Given the description of an element on the screen output the (x, y) to click on. 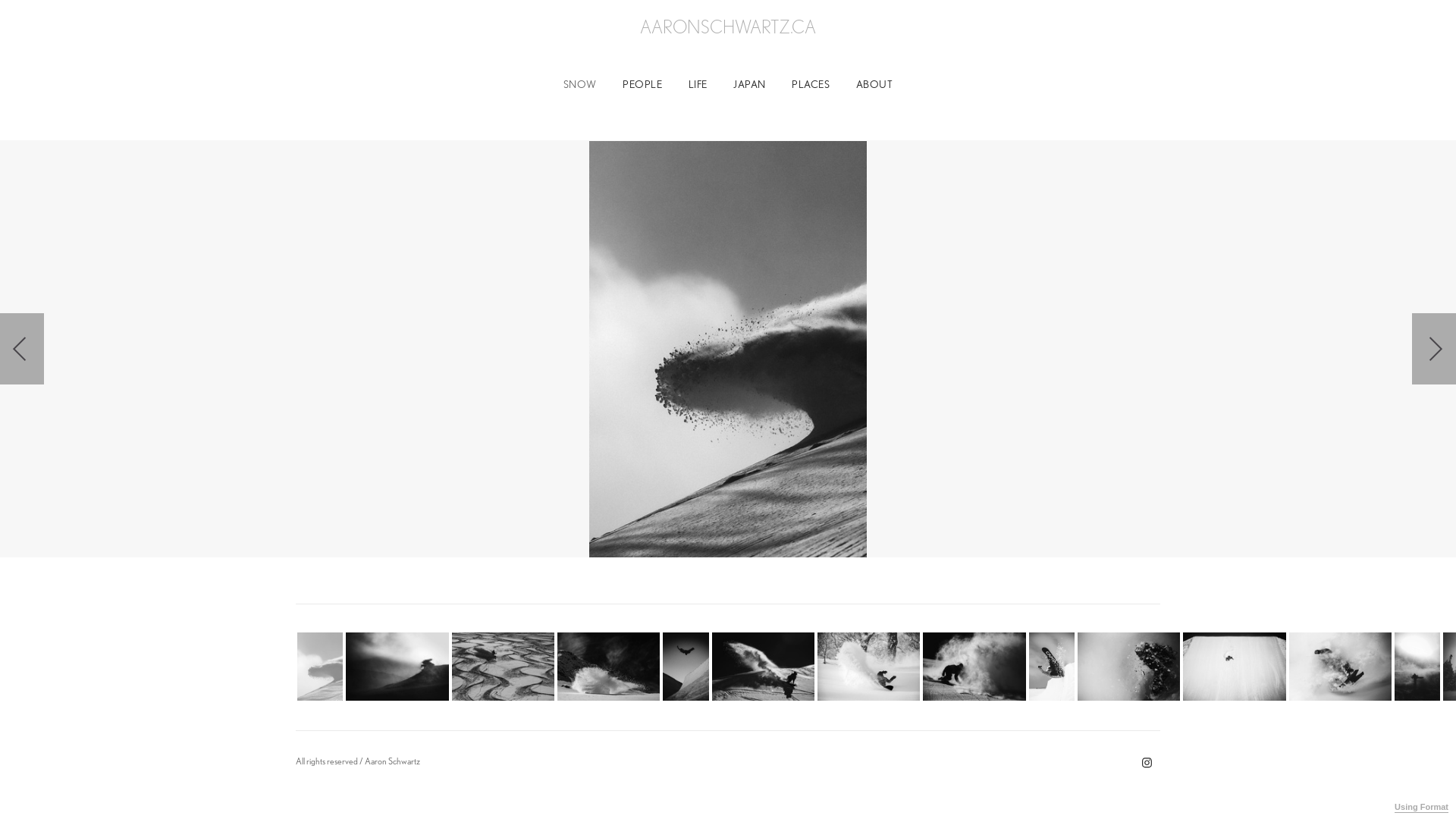
AARONSCHWARTZ.CA Element type: text (727, 27)
SNOW Element type: text (579, 84)
Using Format Element type: text (1421, 807)
PEOPLE Element type: text (642, 84)
ABOUT Element type: text (874, 84)
LIFE Element type: text (697, 84)
JAPAN Element type: text (749, 84)
PLACES Element type: text (810, 84)
